Given the description of an element on the screen output the (x, y) to click on. 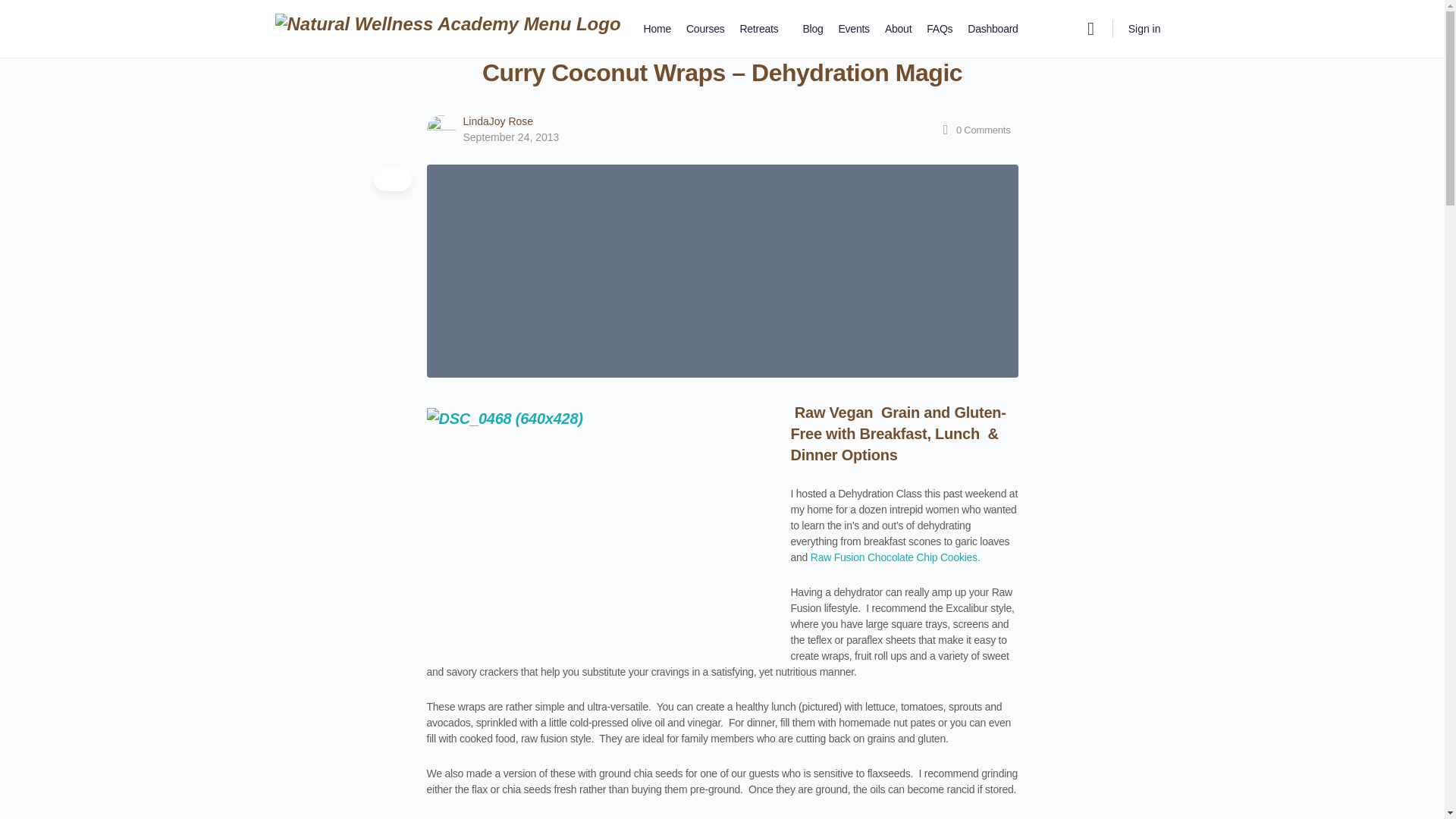
Snacks (692, 24)
Petit Plats (529, 24)
Miscellaneous (462, 24)
Home (288, 24)
Featured (335, 24)
Sign in (1144, 28)
Snacks (692, 24)
Recipes (581, 24)
Petit Plats (529, 24)
Miscellaneous (462, 24)
